Given the description of an element on the screen output the (x, y) to click on. 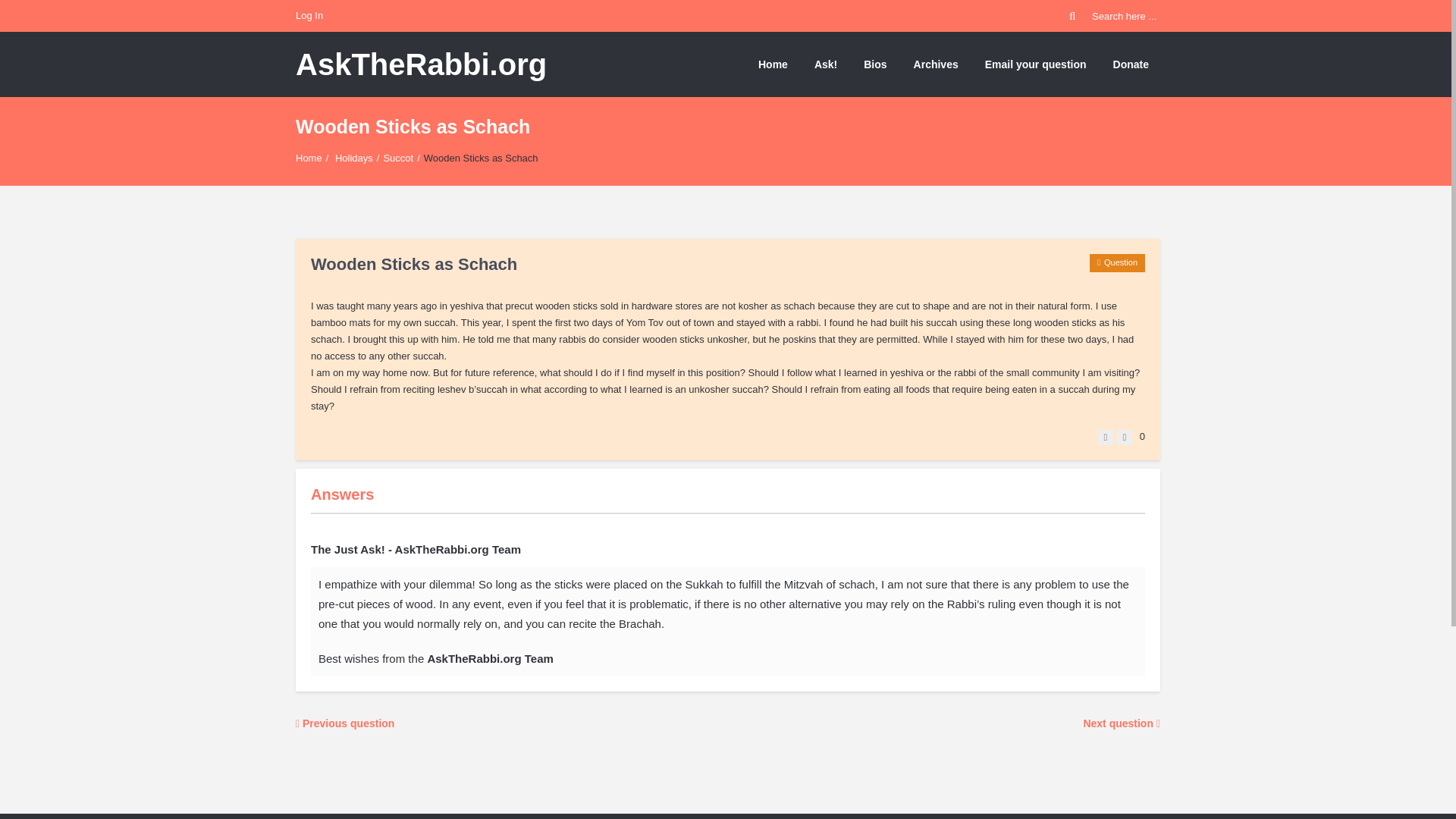
Bios (874, 63)
Search here ... (1114, 15)
AskTheRabbi.org (421, 64)
Email your question (1035, 63)
Home (772, 63)
Ask! (825, 63)
Search here ... (1114, 15)
Succot (397, 157)
Donate (1131, 63)
AskTheRabbi.org (421, 64)
Archives (935, 63)
Holidays (353, 157)
Home (308, 157)
